Given the description of an element on the screen output the (x, y) to click on. 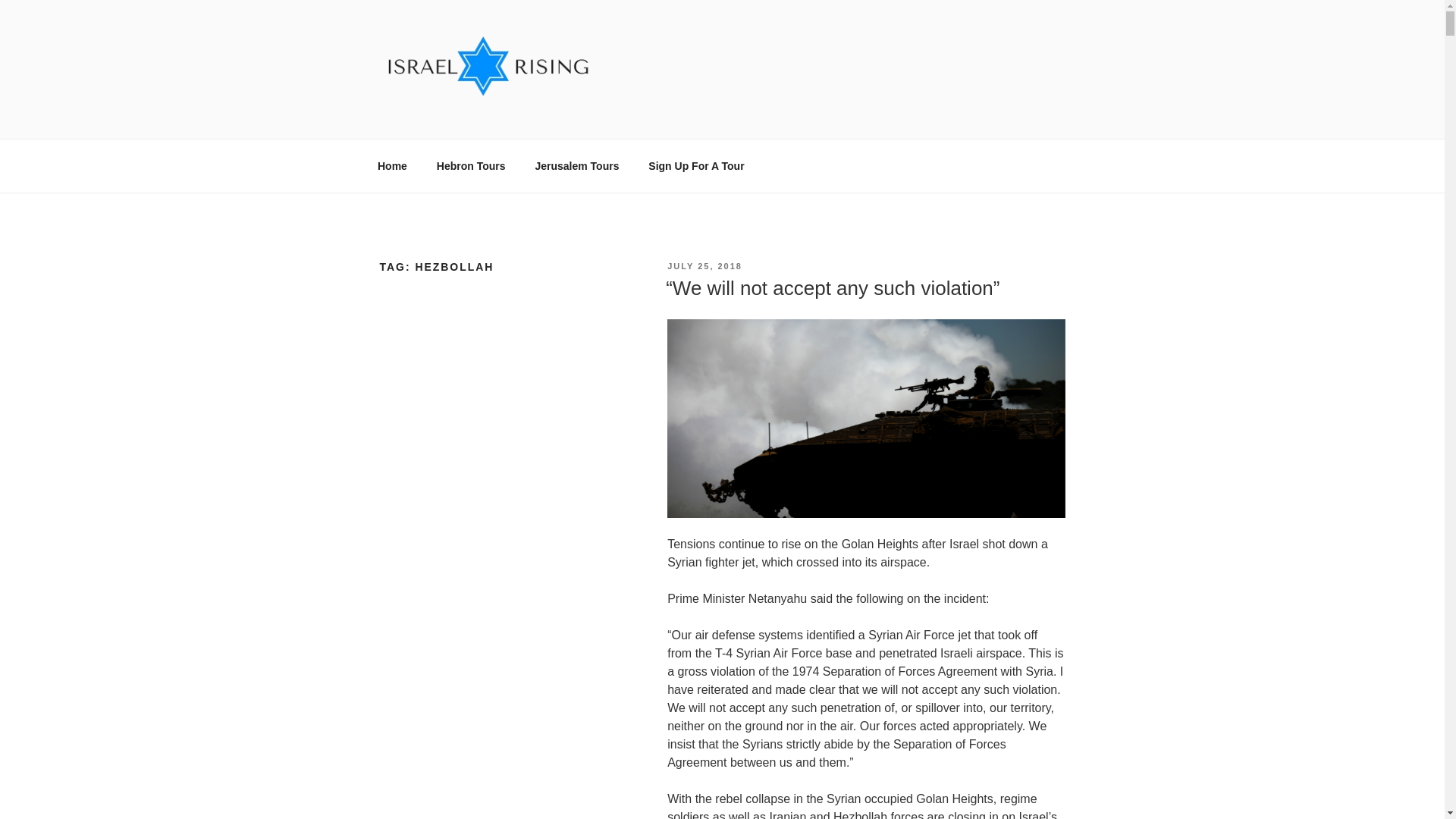
Home (392, 165)
Jerusalem Tours (576, 165)
JULY 25, 2018 (704, 266)
Hebron Tours (470, 165)
ISRAEL RISING (493, 119)
Sign Up For A Tour (695, 165)
